Given the description of an element on the screen output the (x, y) to click on. 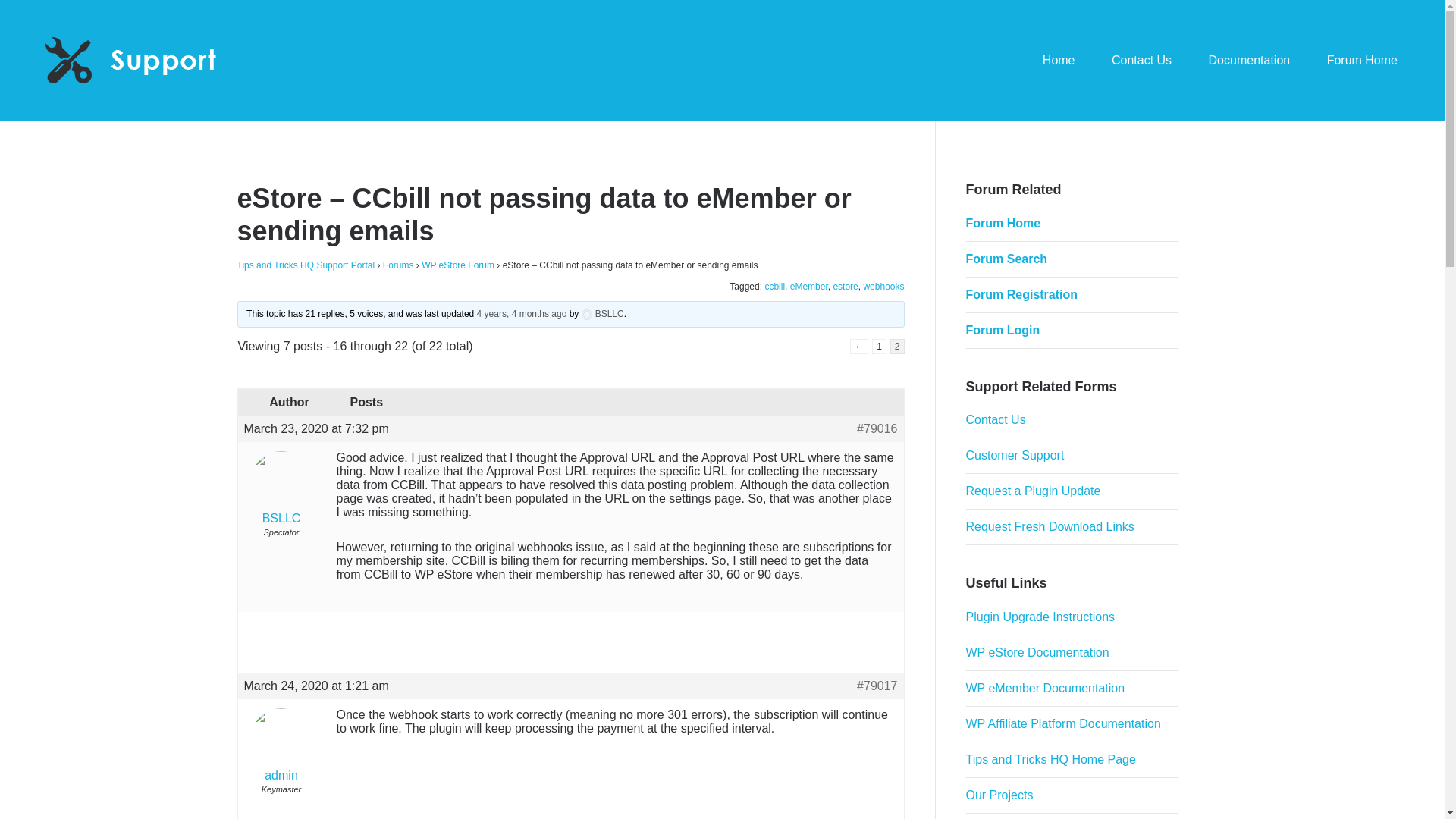
Forum Home (1361, 60)
Documentation (1249, 60)
BSLLC (602, 313)
View BSLLC's profile (602, 313)
Home (1059, 60)
eMember (809, 286)
admin (281, 747)
WP eStore Forum (458, 265)
1 (879, 346)
BSLLC (281, 490)
ccbill (774, 286)
Tips and Tricks HQ Support Portal (304, 265)
Forum Search (1007, 258)
Forums (397, 265)
Contact Us (1141, 60)
